Given the description of an element on the screen output the (x, y) to click on. 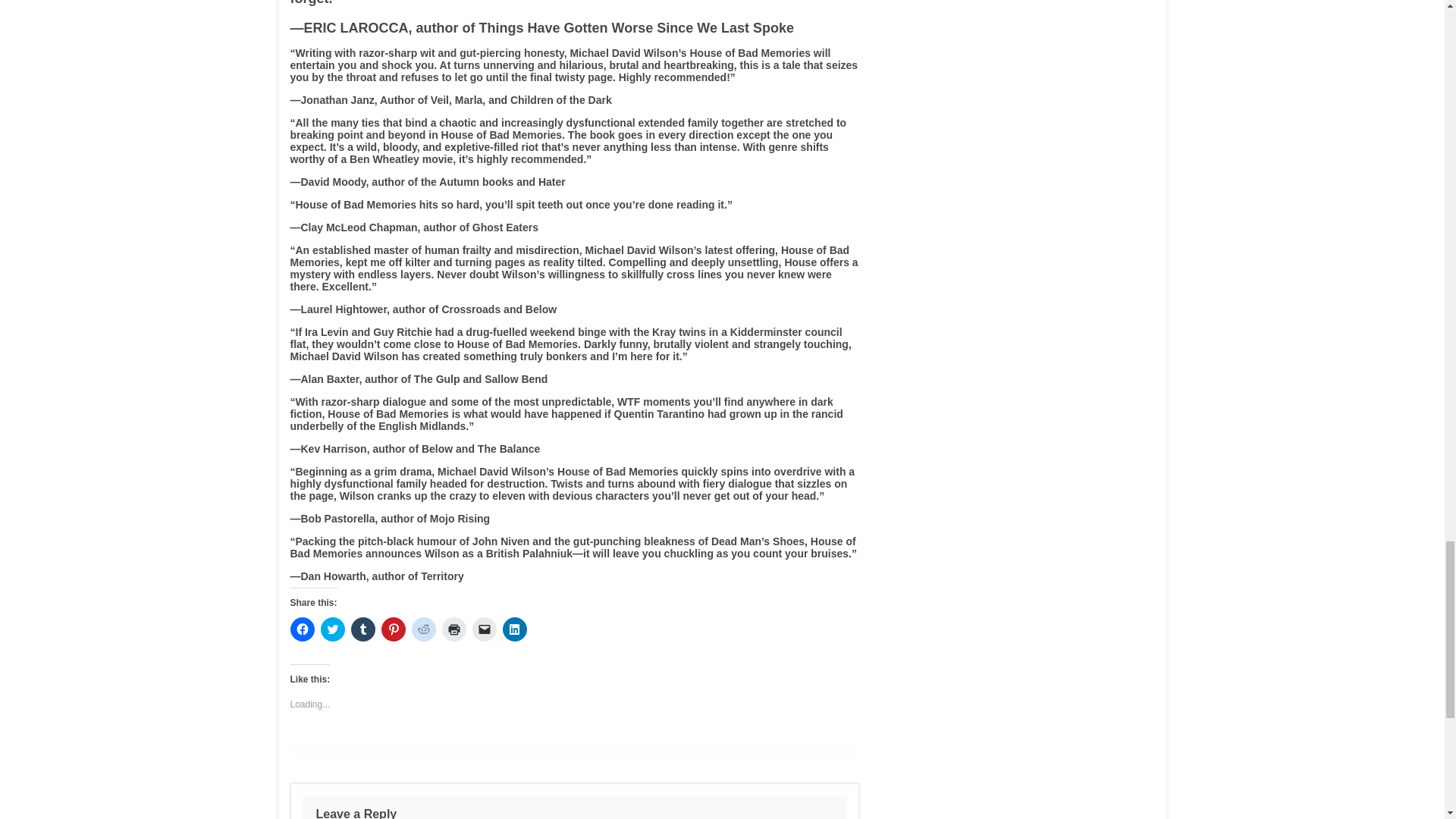
Click to share on Twitter (331, 629)
Click to share on Reddit (422, 629)
Click to print (453, 629)
Click to share on Pinterest (392, 629)
Click to share on LinkedIn (513, 629)
Click to email a link to a friend (483, 629)
Click to share on Tumblr (362, 629)
Click to share on Facebook (301, 629)
